Given the description of an element on the screen output the (x, y) to click on. 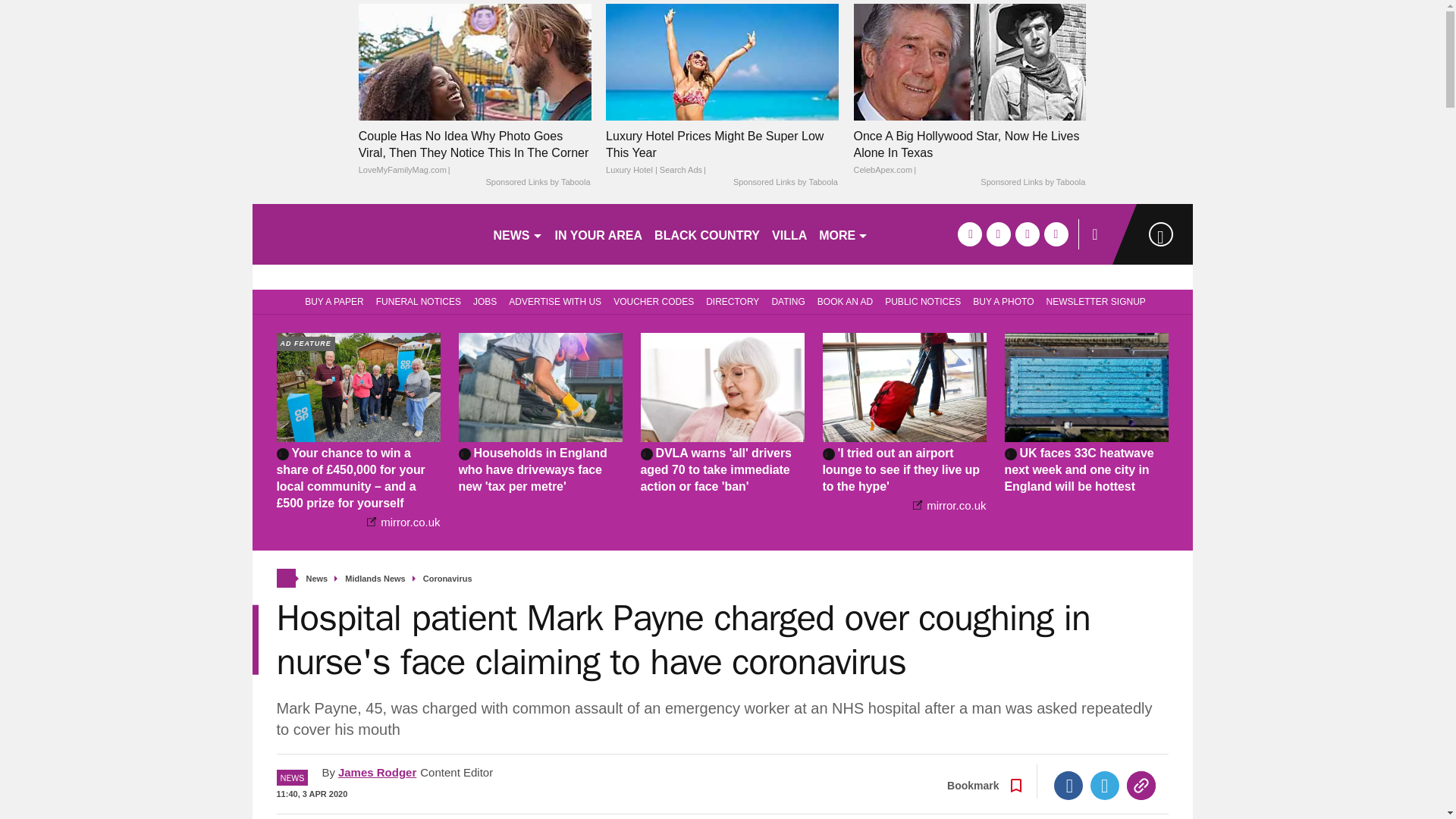
MORE (843, 233)
tiktok (1026, 233)
Once A Big Hollywood Star, Now He Lives Alone In Texas (969, 61)
Luxury Hotel Prices Might Be Super Low This Year (721, 61)
Sponsored Links by Taboola (1031, 182)
Sponsored Links by Taboola (536, 182)
Sponsored Links by Taboola (785, 182)
IN YOUR AREA (598, 233)
twitter (997, 233)
Facebook (1068, 785)
instagram (1055, 233)
NEWS (517, 233)
Luxury Hotel Prices Might Be Super Low This Year (721, 152)
